Given the description of an element on the screen output the (x, y) to click on. 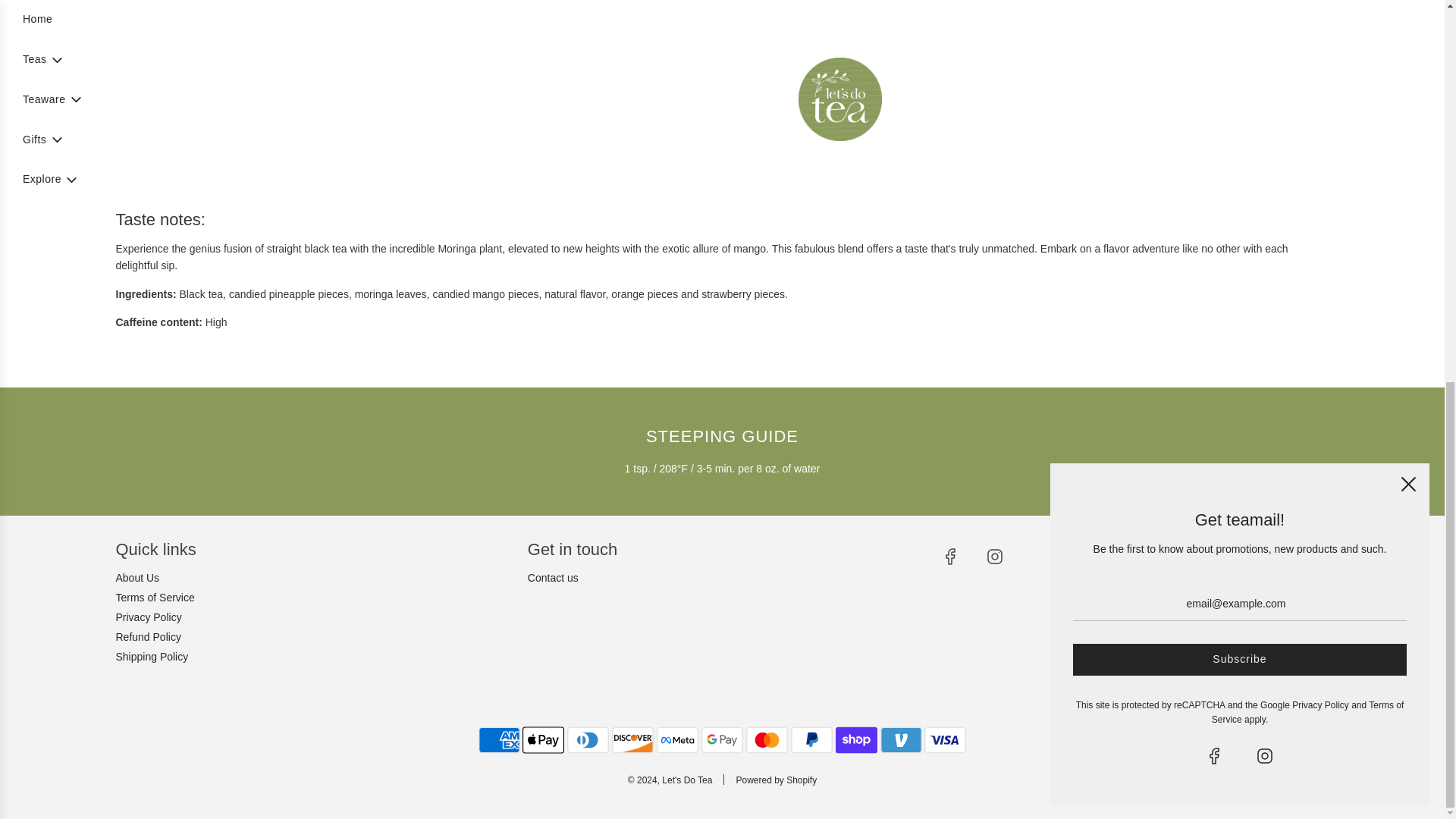
Mastercard (766, 739)
Diners Club (587, 739)
American Express (499, 739)
Discover (632, 739)
Apple Pay (543, 739)
Meta Pay (677, 739)
Google Pay (721, 739)
